Given the description of an element on the screen output the (x, y) to click on. 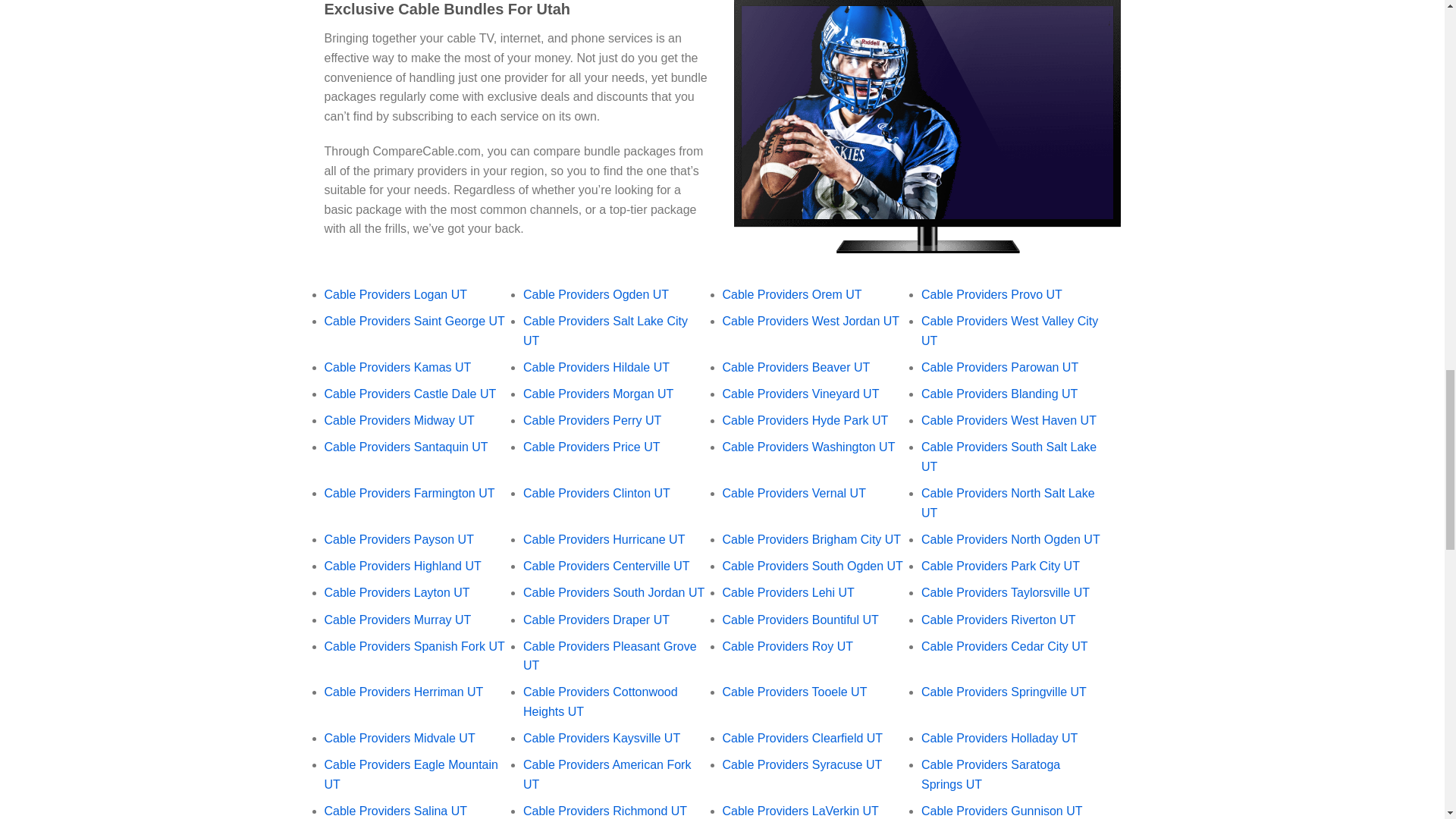
Cable Providers Orem UT (791, 294)
Cable Providers Ogden UT (595, 294)
Cable Providers Morgan UT (597, 393)
Cable Providers Midway UT (399, 420)
Cable Providers West Jordan UT (810, 320)
Cable Providers Price UT (591, 446)
Cable Providers Clinton UT (595, 492)
Cable Providers West Haven UT (1008, 420)
Cable Providers Hildale UT (595, 367)
Cable Providers Provo UT (991, 294)
Cable Providers Parowan UT (999, 367)
Cable Providers Santaquin UT (405, 446)
Cable Providers Castle Dale UT (410, 393)
Cable Providers Farmington UT (409, 492)
Cable Providers Blanding UT (999, 393)
